Given the description of an element on the screen output the (x, y) to click on. 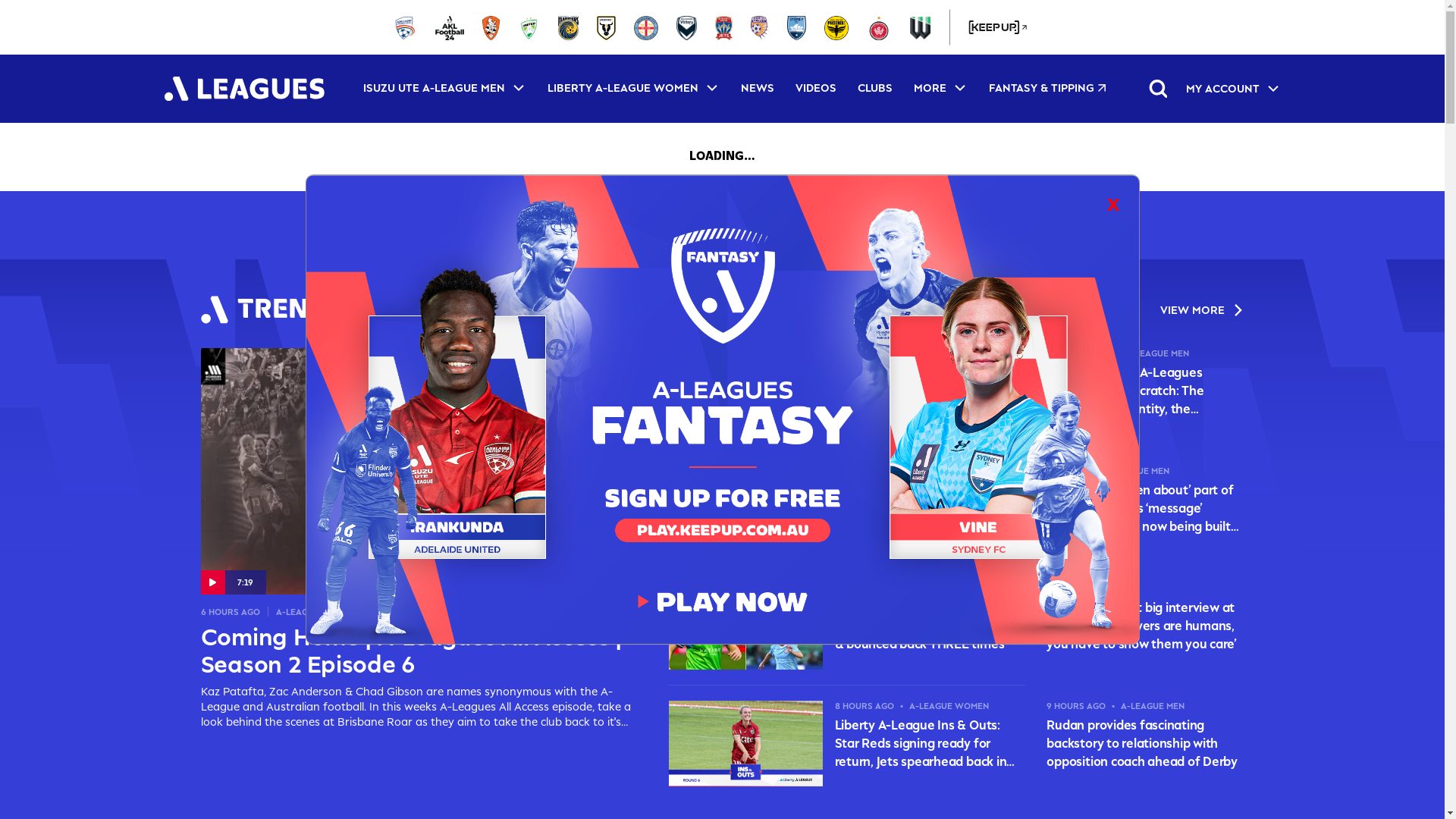
7:19 Element type: text (419, 471)
3rd party ad content Element type: hover (722, 225)
Coming Home | A-Leagues All Access | Season 2 Episode 6 Element type: text (419, 650)
FANTASY & TIPPING Element type: text (1047, 88)
MORE Element type: text (939, 87)
VIEW MORE Element type: text (1202, 308)
ISUZU UTE A-LEAGUE MEN Element type: text (443, 87)
LIBERTY A-LEAGUE WOMEN Element type: text (633, 87)
VIDEOS Element type: text (815, 88)
NEWS Element type: text (756, 88)
CLUBS Element type: text (874, 88)
MY ACCOUNT Element type: text (1233, 88)
